Given the description of an element on the screen output the (x, y) to click on. 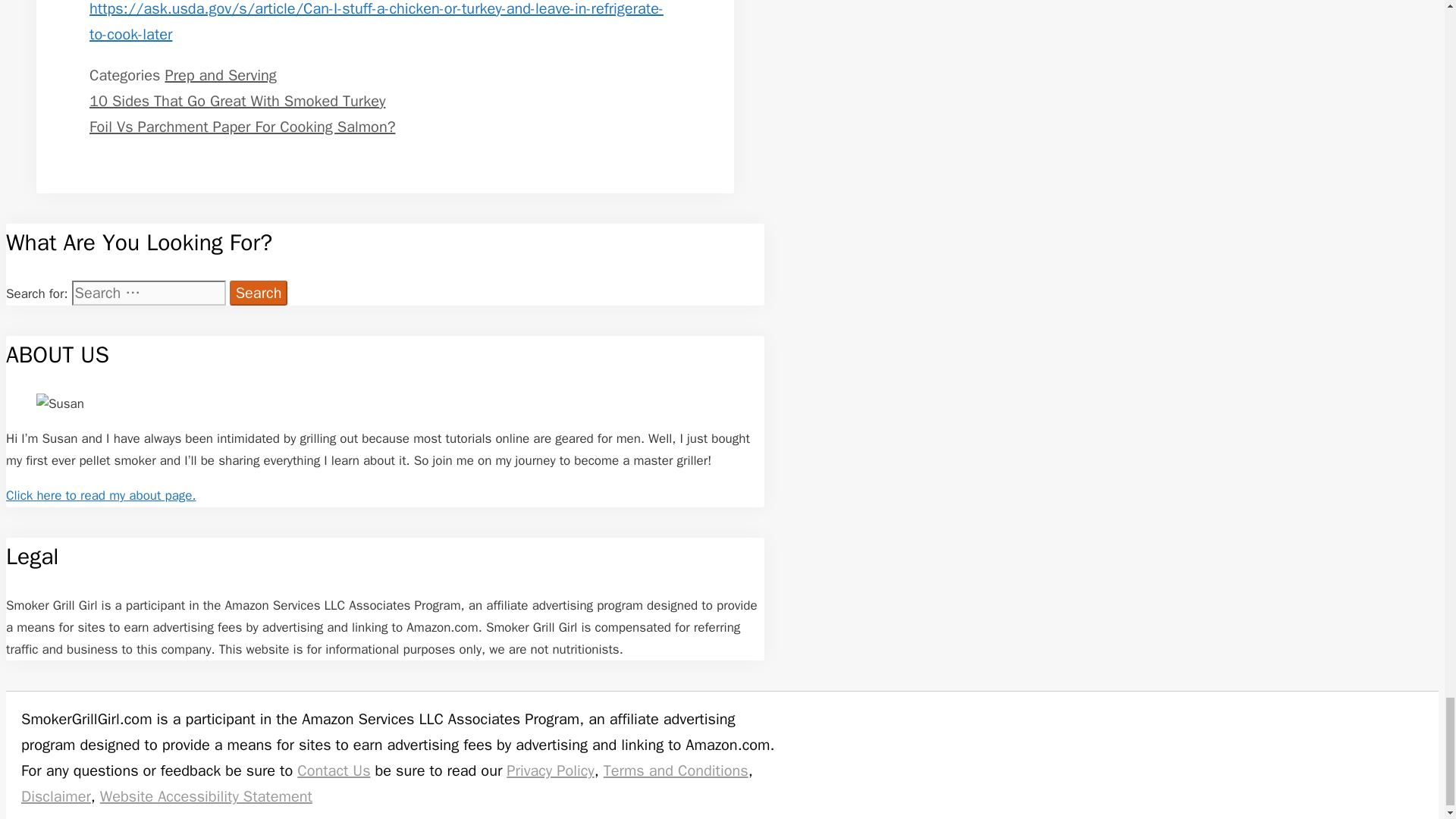
Search (259, 292)
Search for: (148, 292)
Click here to read my about page. (100, 495)
Privacy Policy (550, 770)
Contact Us (333, 770)
Foil Vs Parchment Paper For Cooking Salmon? (241, 126)
Prep and Serving (220, 75)
Terms and Conditions (676, 770)
Disclaimer (55, 796)
Website Accessibility Statement (206, 796)
10 Sides That Go Great With Smoked Turkey (236, 100)
Search (259, 292)
Search (259, 292)
